Given the description of an element on the screen output the (x, y) to click on. 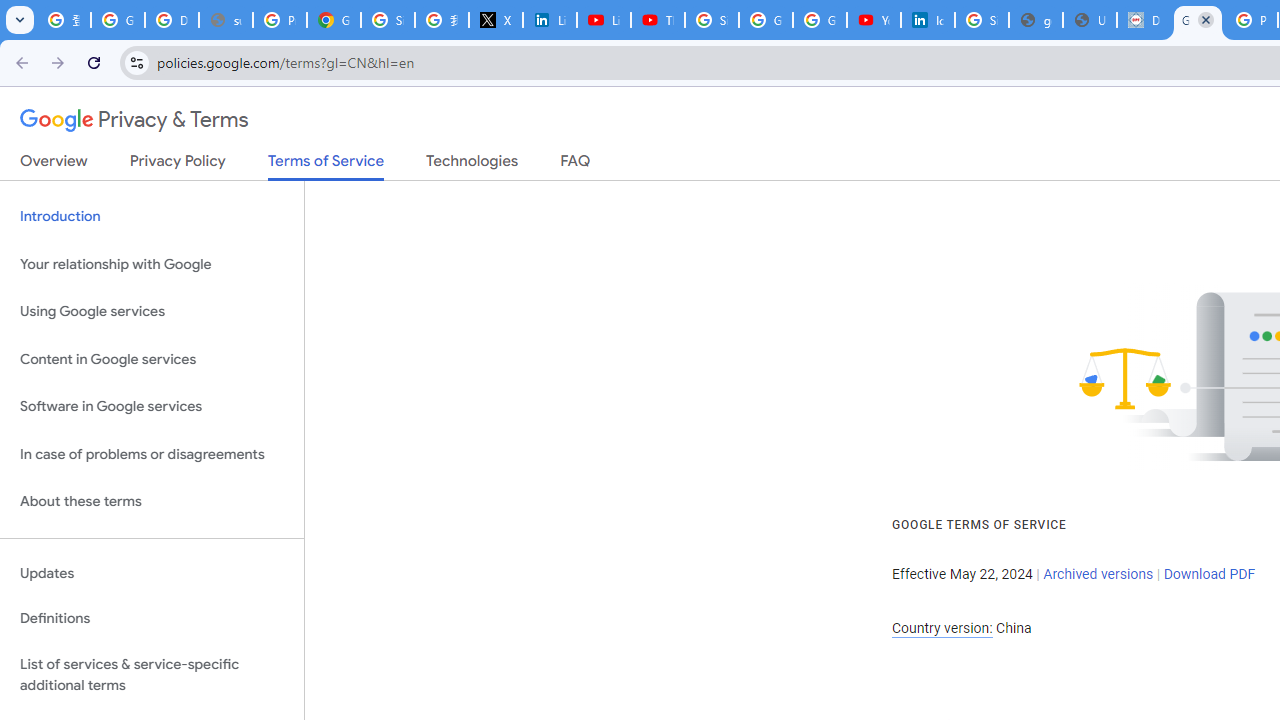
Archived versions (1098, 574)
LinkedIn Privacy Policy (550, 20)
Download PDF (1209, 574)
Definitions (152, 619)
Updates (152, 573)
Data Privacy Framework (1144, 20)
Sign in - Google Accounts (711, 20)
Your relationship with Google (152, 263)
